Given the description of an element on the screen output the (x, y) to click on. 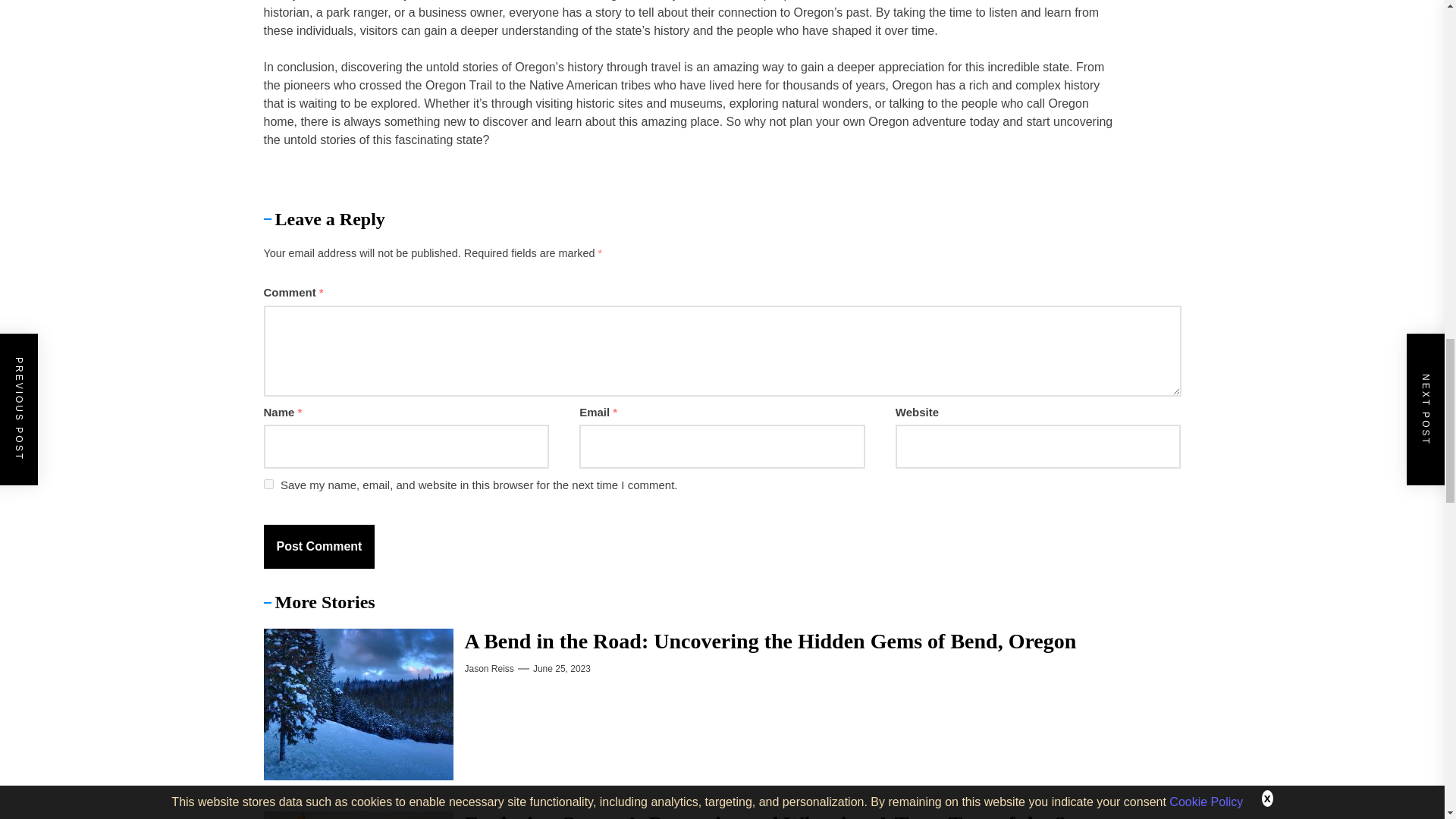
yes (268, 483)
Post Comment (319, 546)
